Given the description of an element on the screen output the (x, y) to click on. 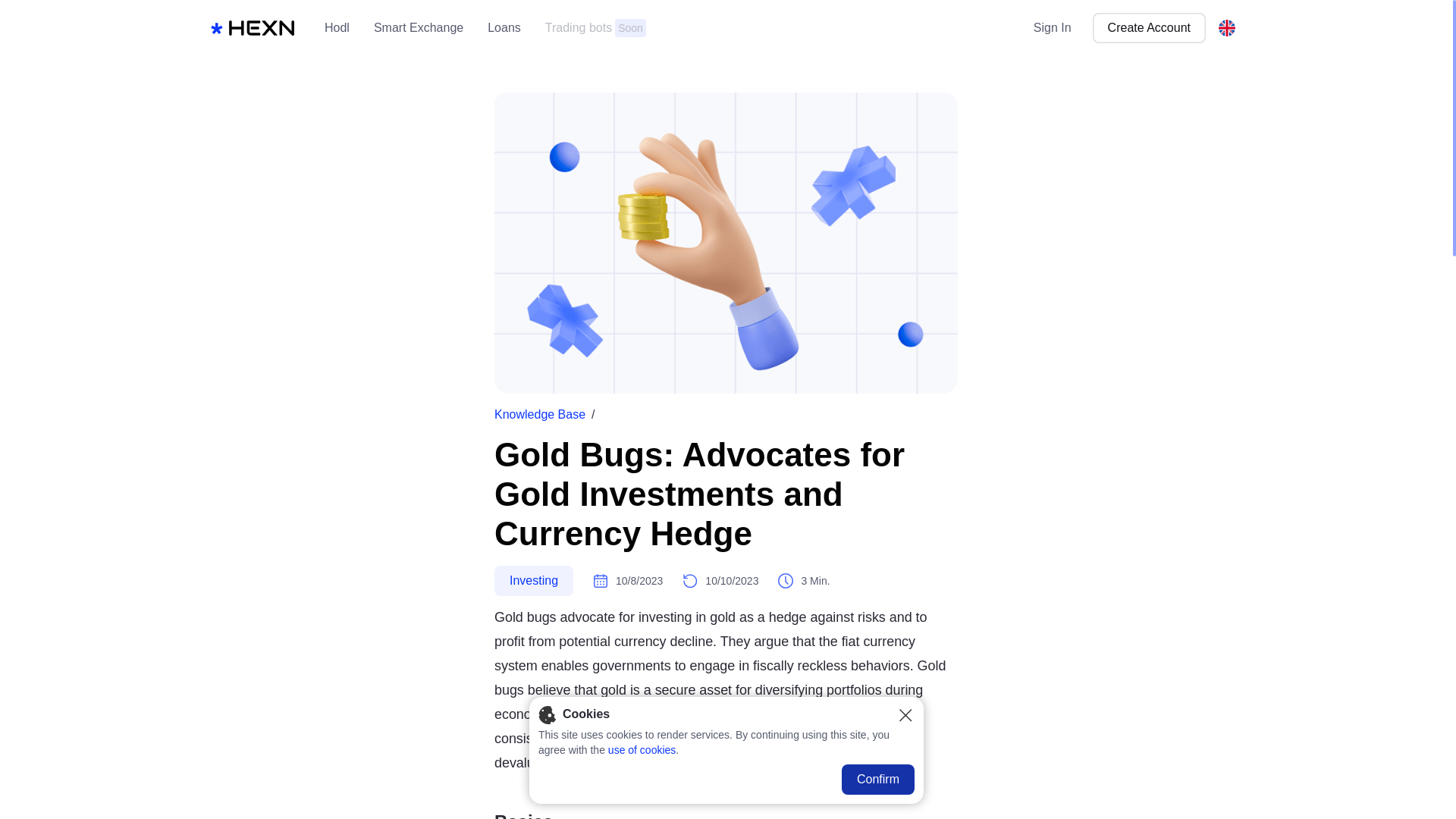
Knowledge Base (540, 414)
Confirm (877, 779)
Sign In (1051, 28)
use of cookies (595, 28)
Loans (665, 28)
Investing (642, 749)
Smart Exchange (664, 28)
Hodl (504, 28)
Create Account (534, 580)
